Given the description of an element on the screen output the (x, y) to click on. 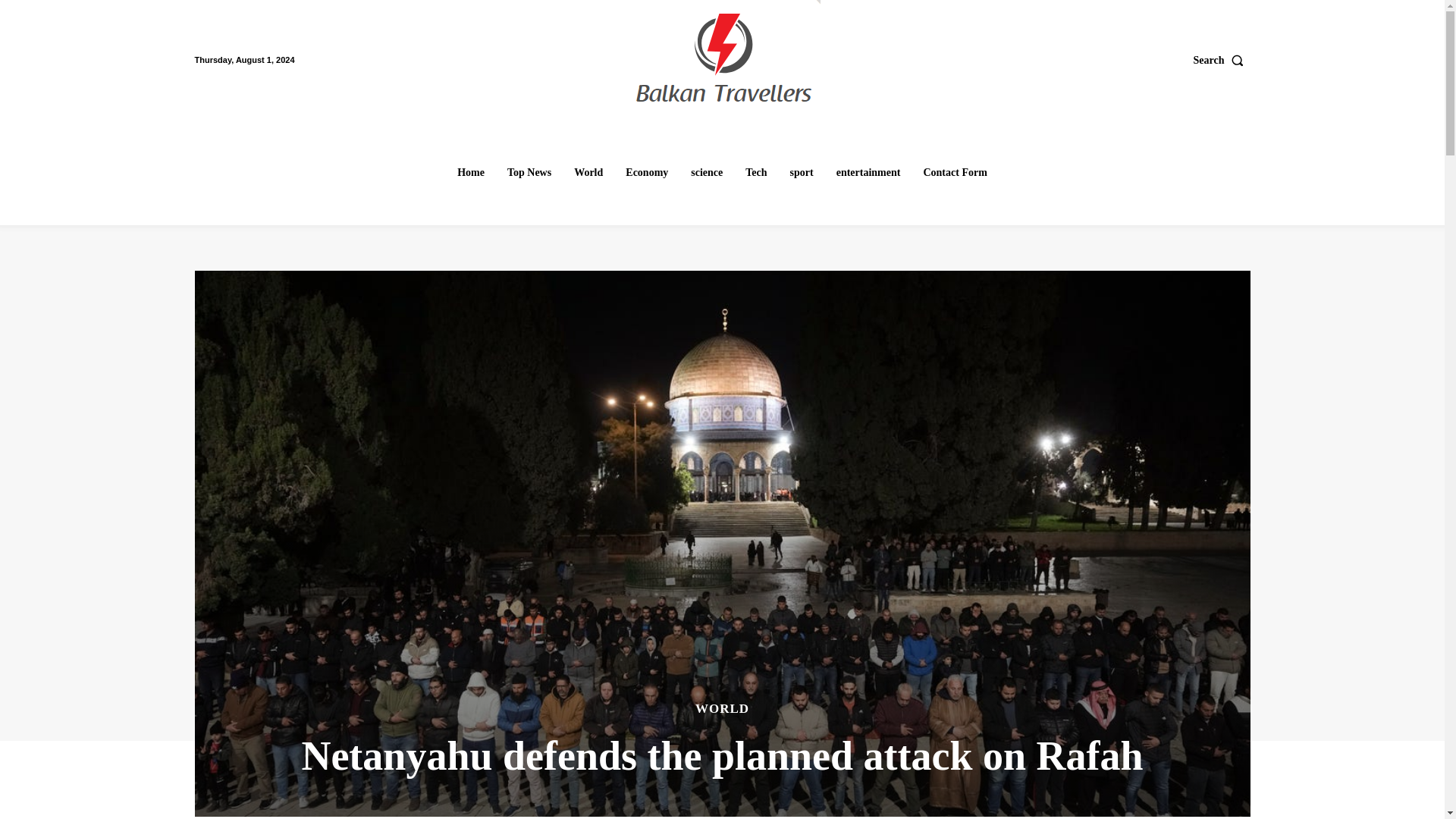
Contact Form (954, 173)
World (588, 173)
Economy (646, 173)
Home (470, 173)
Tech (756, 173)
science (706, 173)
entertainment (868, 173)
sport (802, 173)
Search (1221, 60)
Top News (529, 173)
